Given the description of an element on the screen output the (x, y) to click on. 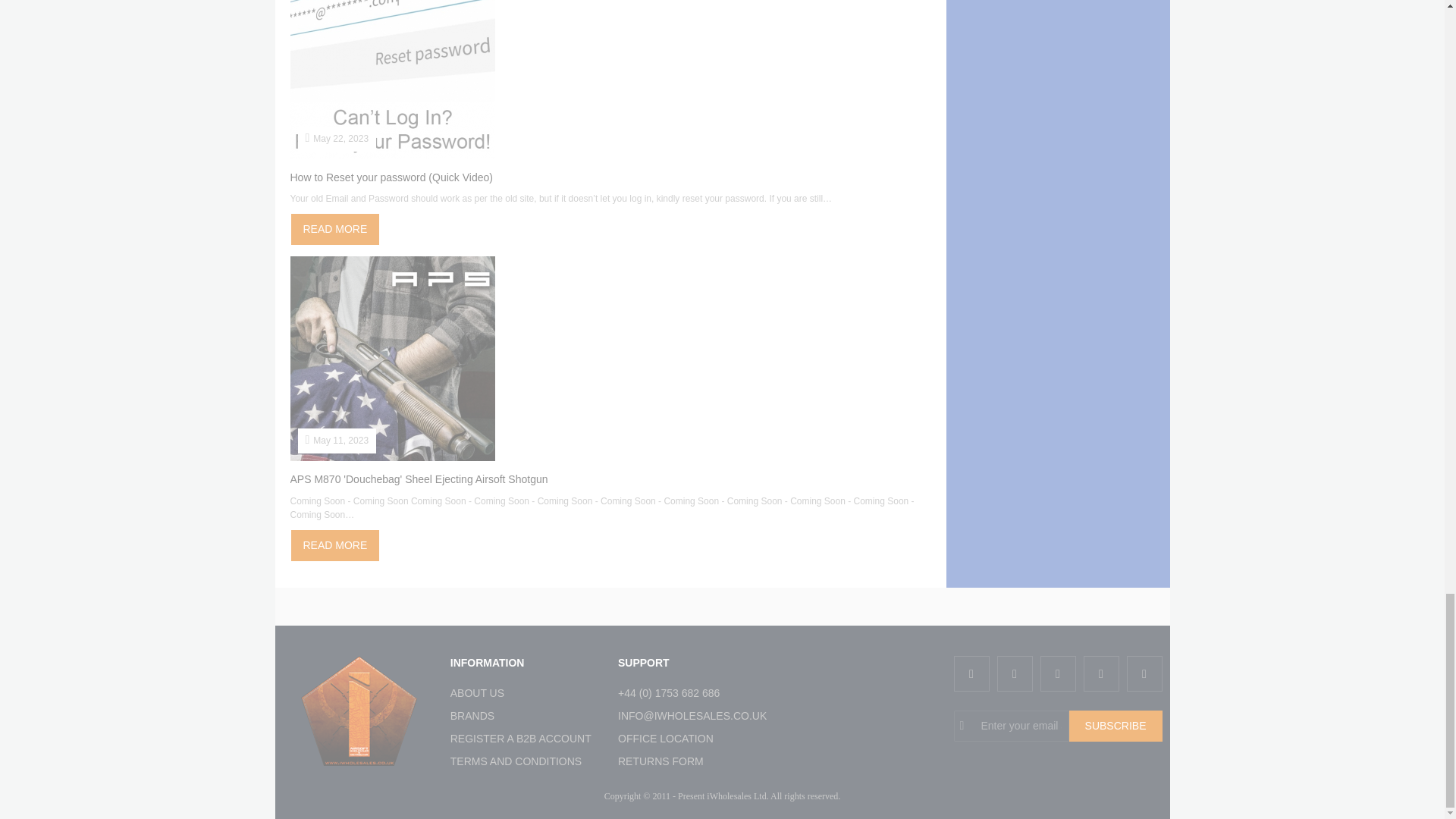
Subscribe (1114, 726)
